Given the description of an element on the screen output the (x, y) to click on. 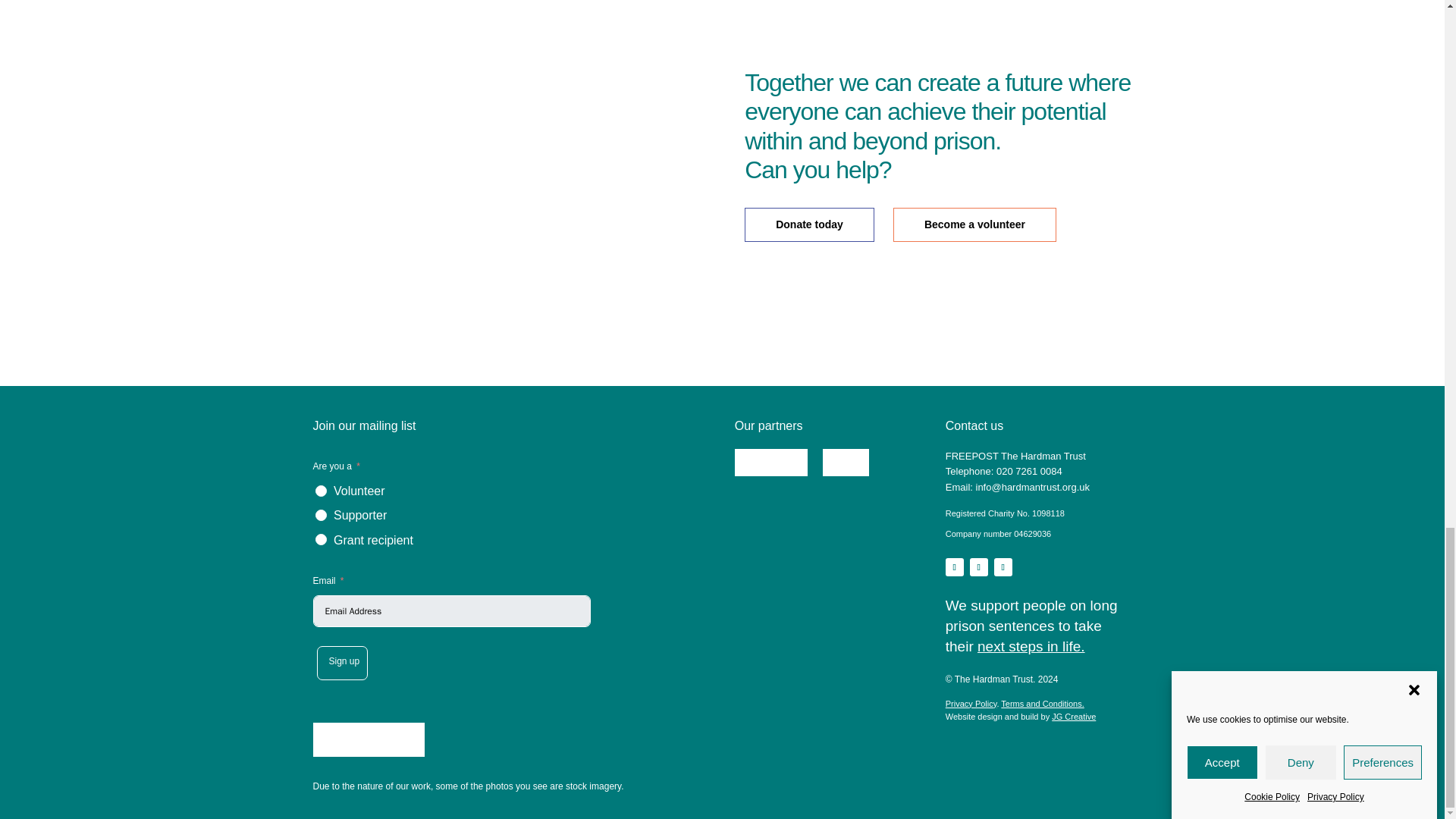
HM Prison service logo Footer (844, 461)
Ministry of Justice logo (771, 461)
Follow on Facebook (1002, 566)
Fundraising Regulator logo Footer x2 (368, 739)
Follow on X (978, 566)
Donate homepage image new (505, 158)
Follow on LinkedIn (953, 566)
